Given the description of an element on the screen output the (x, y) to click on. 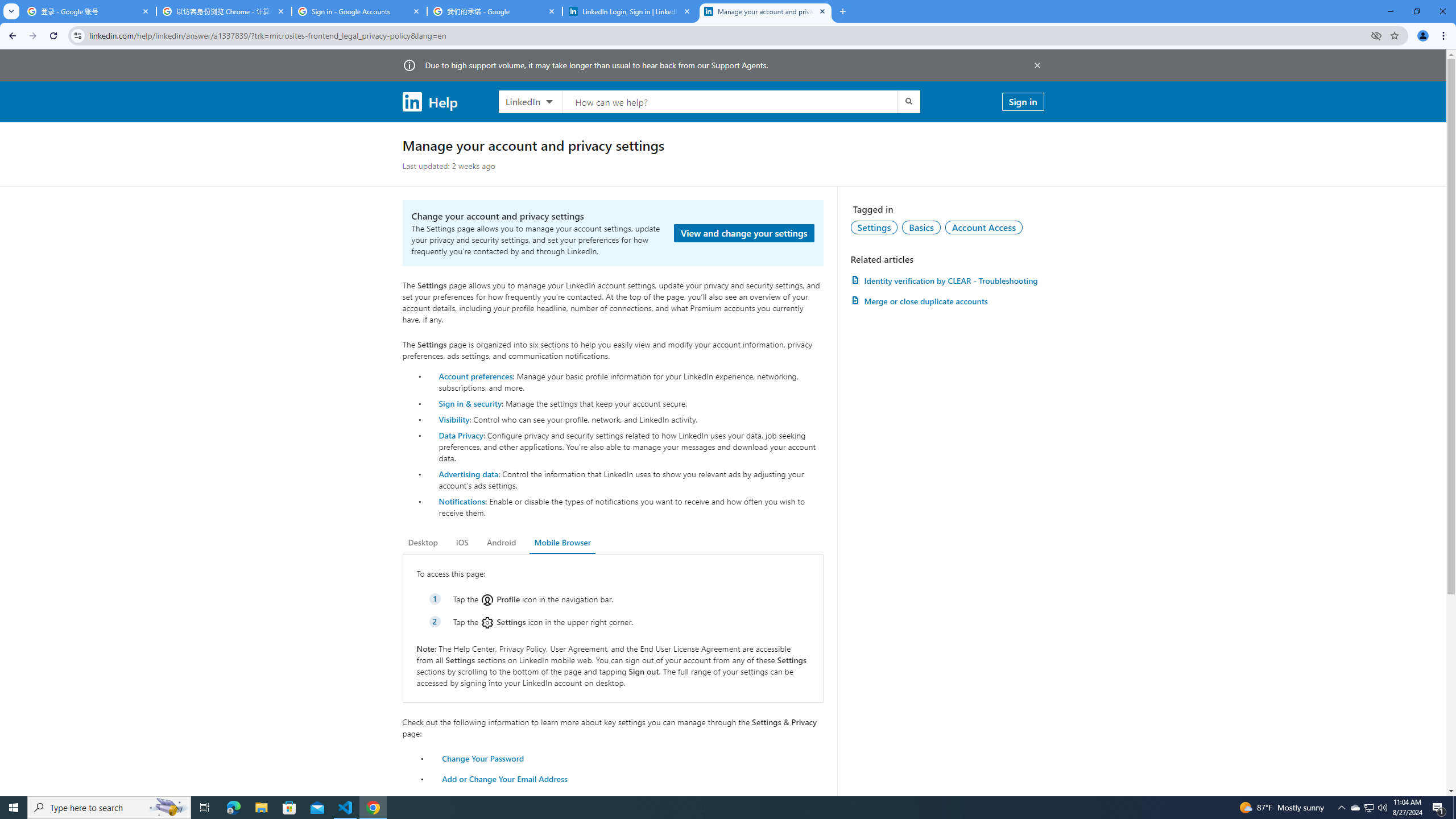
Identity verification by CLEAR - Troubleshooting (946, 280)
LinkedIn Login, Sign in | LinkedIn (630, 11)
View and change your settings (743, 232)
AutomationID: topic-link-a151002 (983, 227)
AutomationID: article-link-a1337200 (946, 300)
Change Your Password (483, 758)
Submit search (908, 101)
LinkedIn products to search, LinkedIn selected (530, 101)
